Given the description of an element on the screen output the (x, y) to click on. 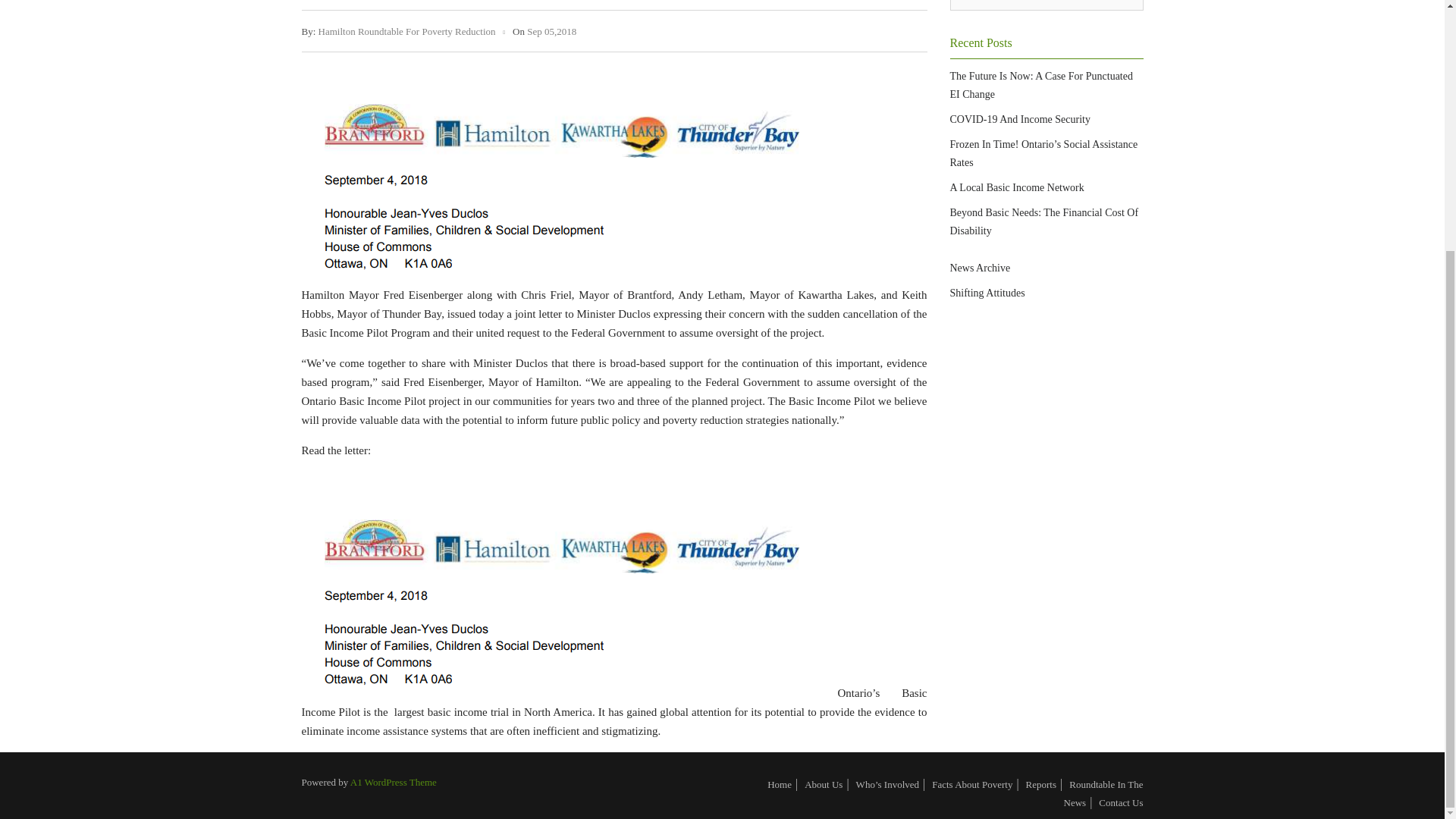
Home (779, 784)
News Archive (979, 267)
Contact Us (1120, 802)
12:47 pm (551, 30)
A Local Basic Income Network (1016, 187)
Hamilton Roundtable For Poverty Reduction (407, 30)
Sep 05,2018 (551, 30)
A1 WordPress Theme (393, 781)
Roundtable In The News (1103, 793)
COVID-19 And Income Security (1019, 119)
